Given the description of an element on the screen output the (x, y) to click on. 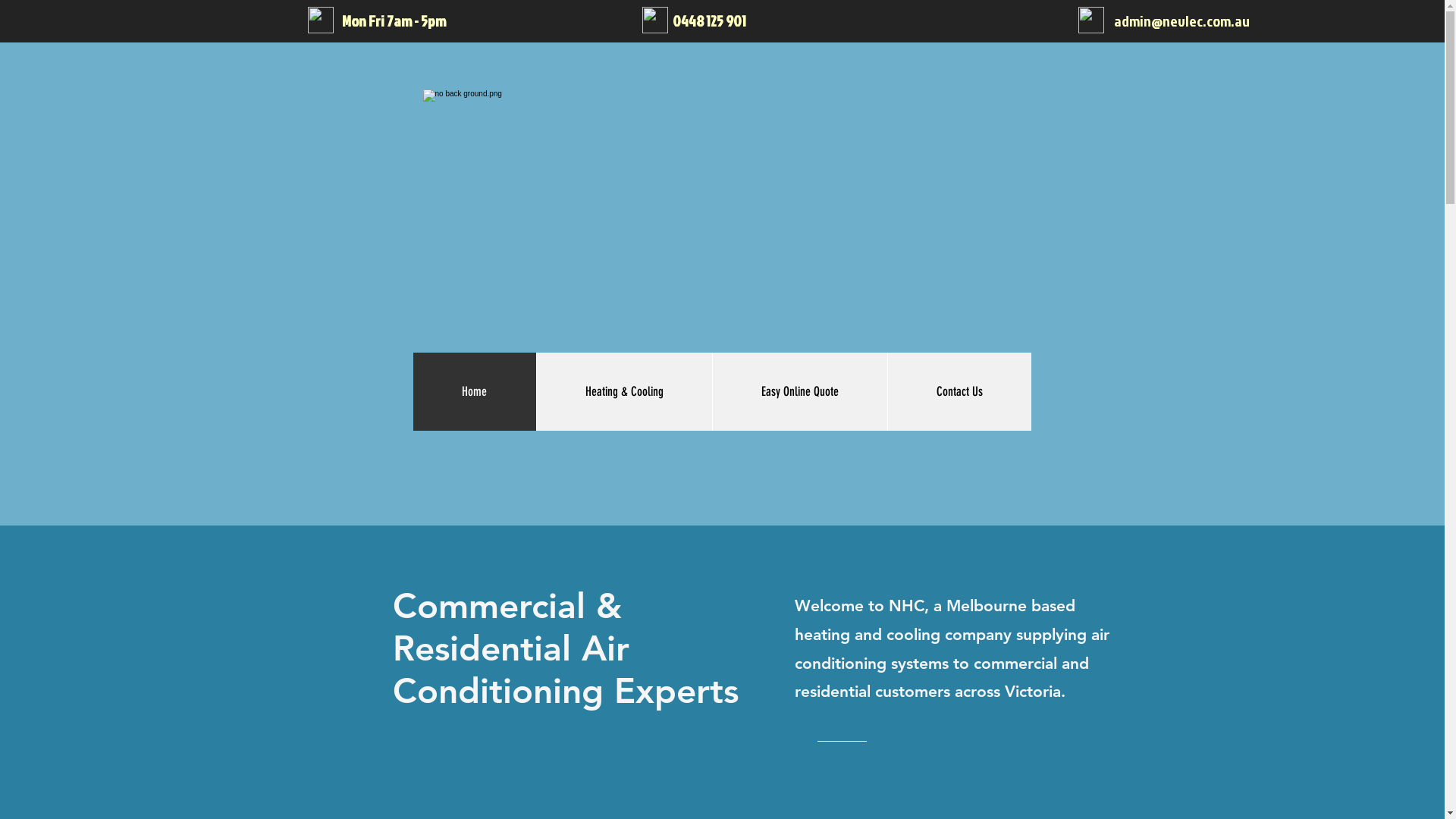
Contact Us Element type: text (959, 391)
Heating & Cooling Element type: text (623, 391)
Home Element type: text (473, 391)
admin@nevlec.com.au Element type: text (1180, 20)
Easy Online Quote Element type: text (798, 391)
